Given the description of an element on the screen output the (x, y) to click on. 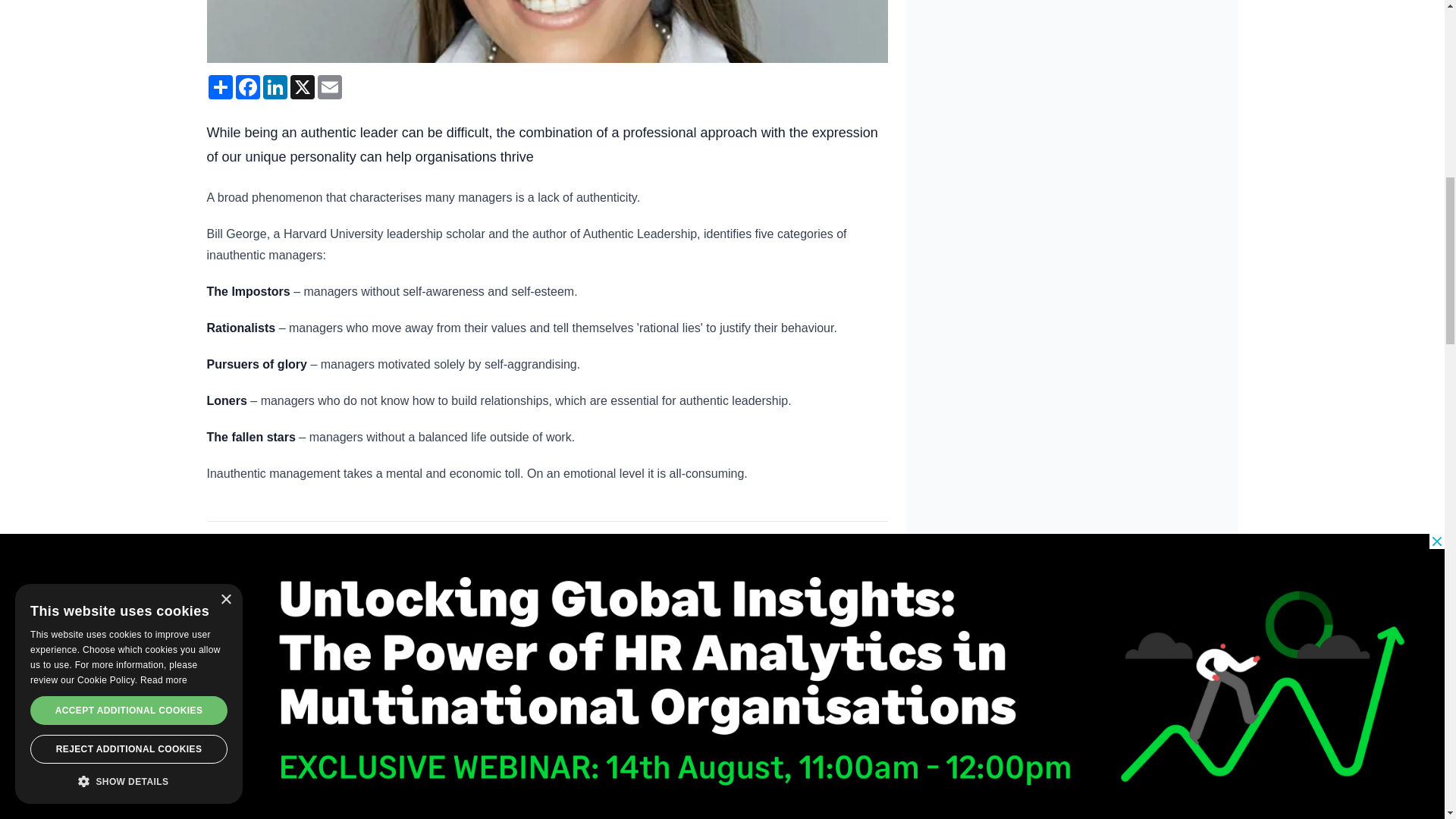
Creating a sense of belonging at work (308, 676)
3rd party ad content (1072, 813)
